Given the description of an element on the screen output the (x, y) to click on. 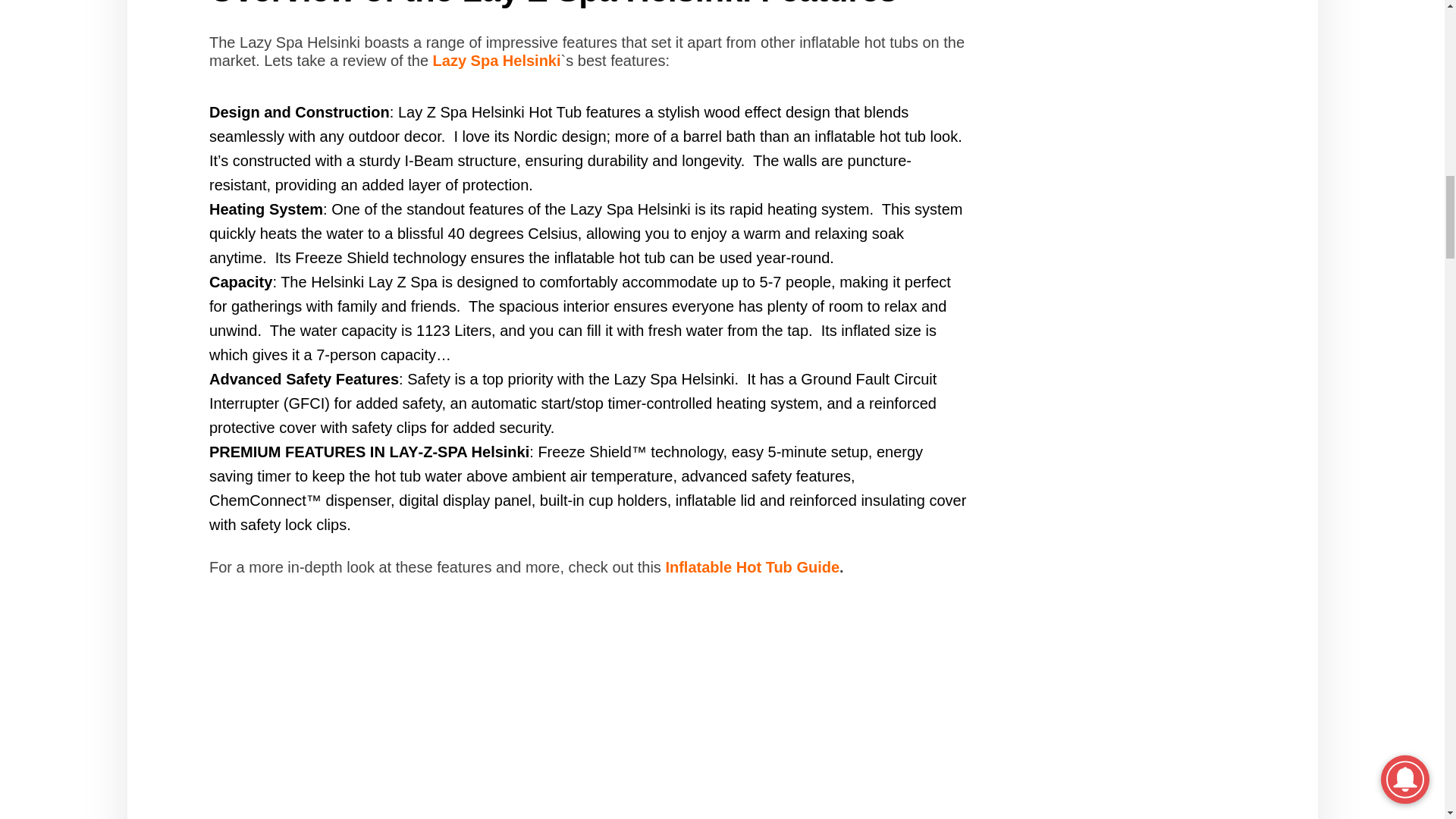
In-depth Review of The Lazy Spa Helsinki (588, 712)
